Given the description of an element on the screen output the (x, y) to click on. 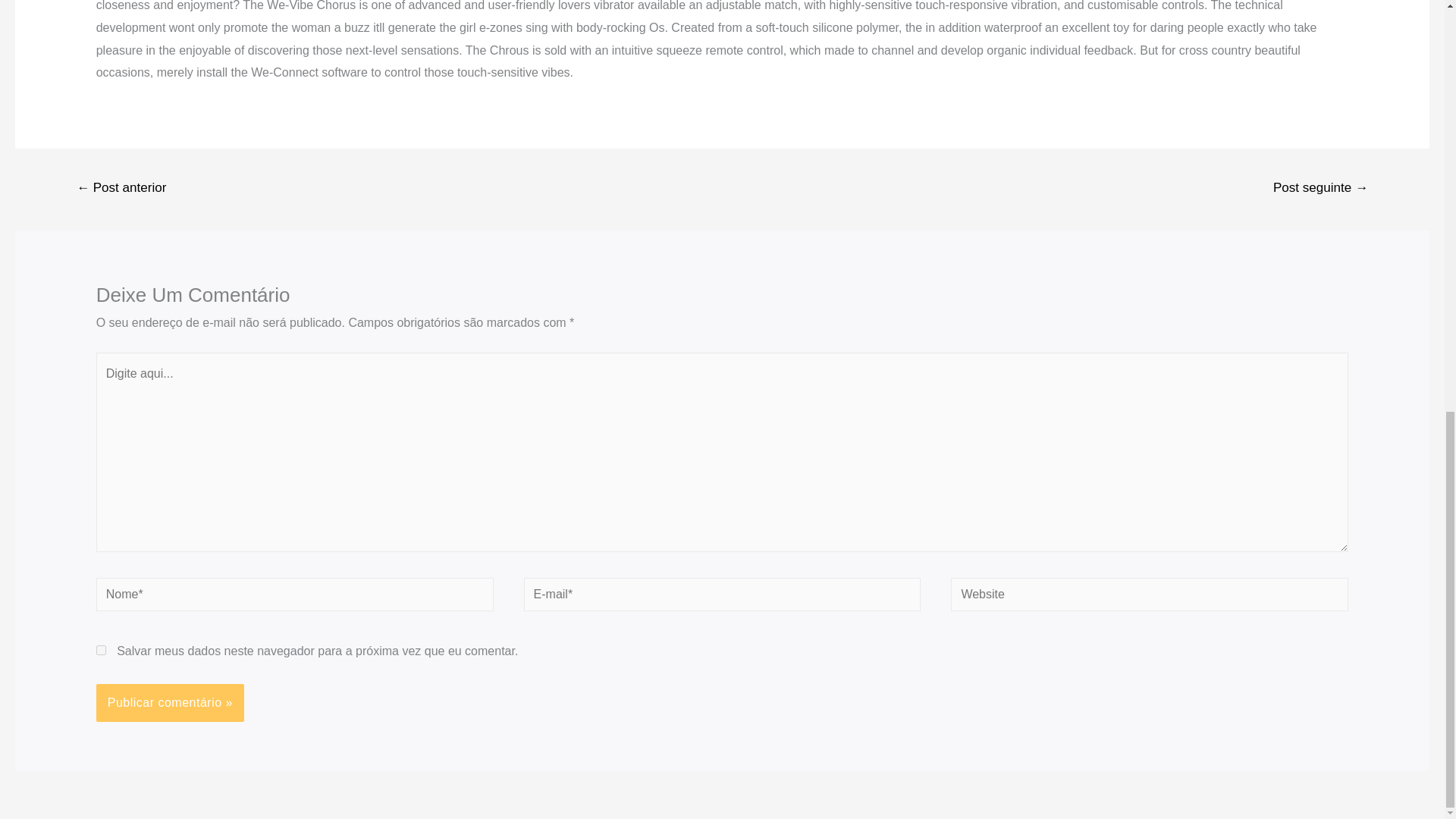
yes (101, 650)
